Given the description of an element on the screen output the (x, y) to click on. 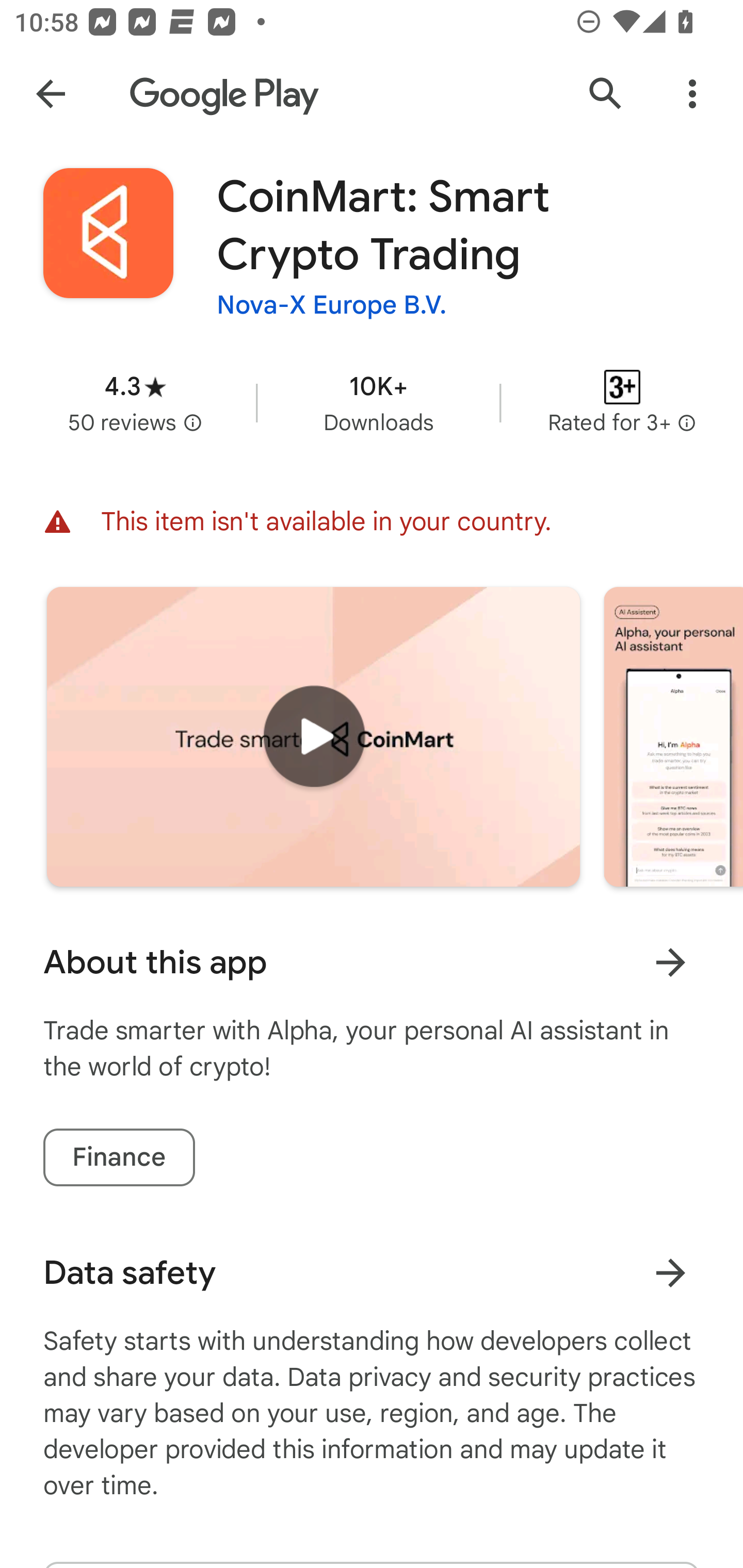
Navigate up (50, 93)
Search Google Play (605, 93)
More Options (692, 93)
Nova-X Europe B.V. (331, 304)
Average rating 4.3 stars in 50 reviews (135, 402)
Content rating Rated for 3+ (622, 402)
Play trailer for "CoinMart: Smart Crypto Trading" (313, 735)
About this app Learn more About this app (371, 962)
Learn more About this app (670, 961)
Finance tag (118, 1157)
Data safety Learn more about data safety (371, 1273)
Learn more about data safety (670, 1272)
